Given the description of an element on the screen output the (x, y) to click on. 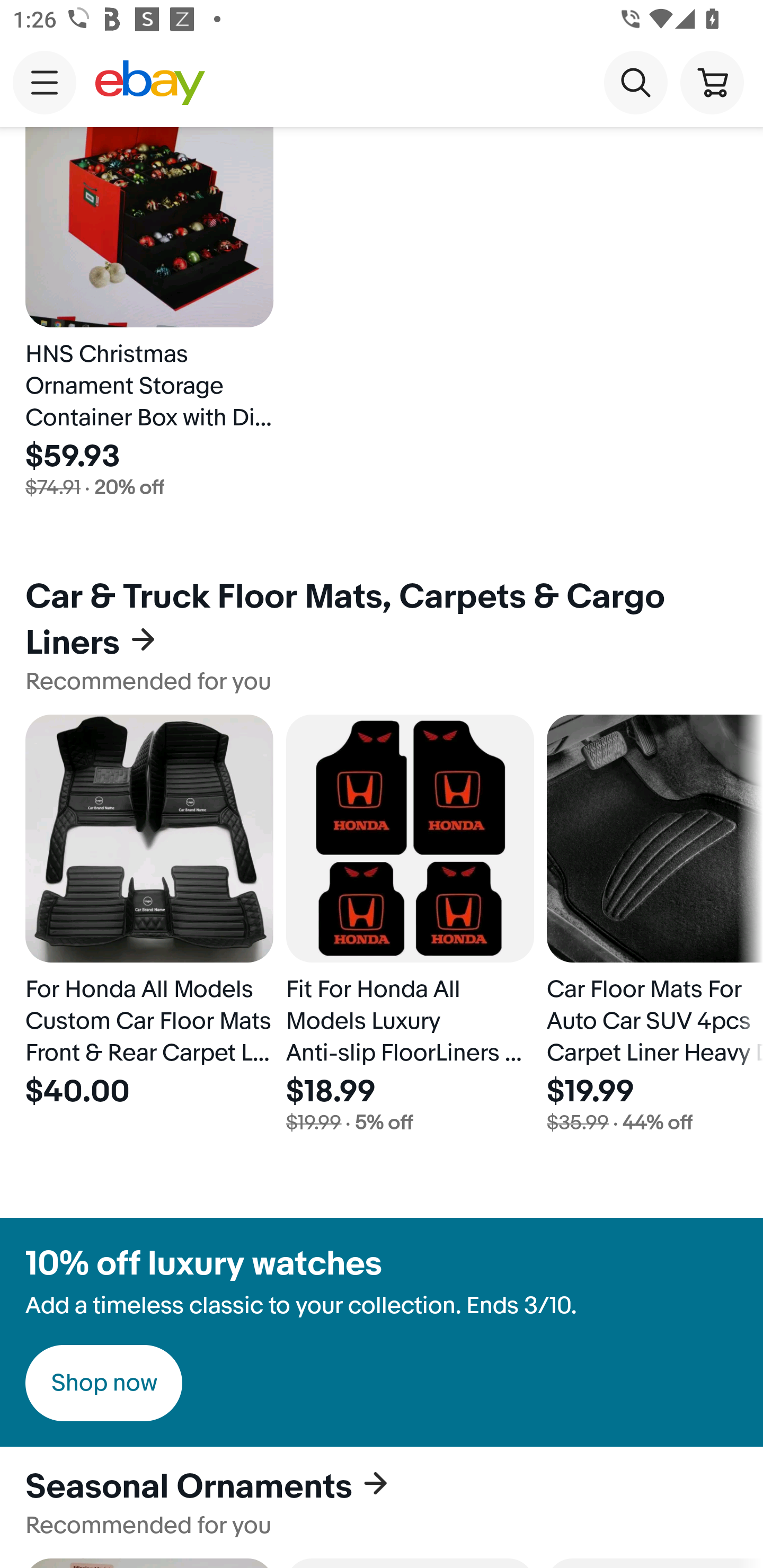
Main navigation, open (44, 82)
Search (635, 81)
Cart button shopping cart (711, 81)
10% off luxury watches (203, 1264)
Shop now (103, 1382)
Seasonal Ornaments   Recommended for you (381, 1502)
